Given the description of an element on the screen output the (x, y) to click on. 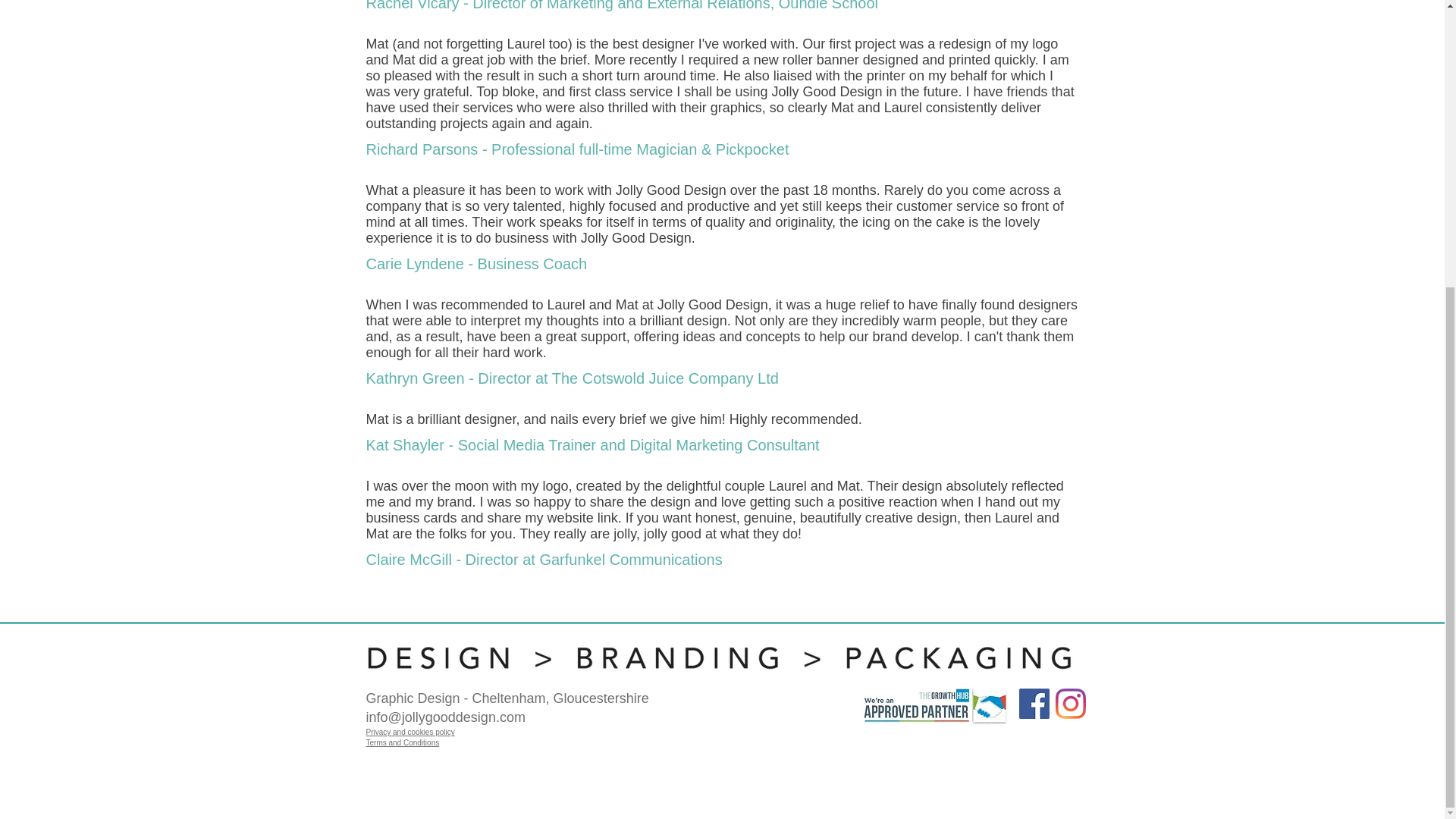
Privacy and cookies policy (409, 732)
Terms and Conditions (402, 742)
